Given the description of an element on the screen output the (x, y) to click on. 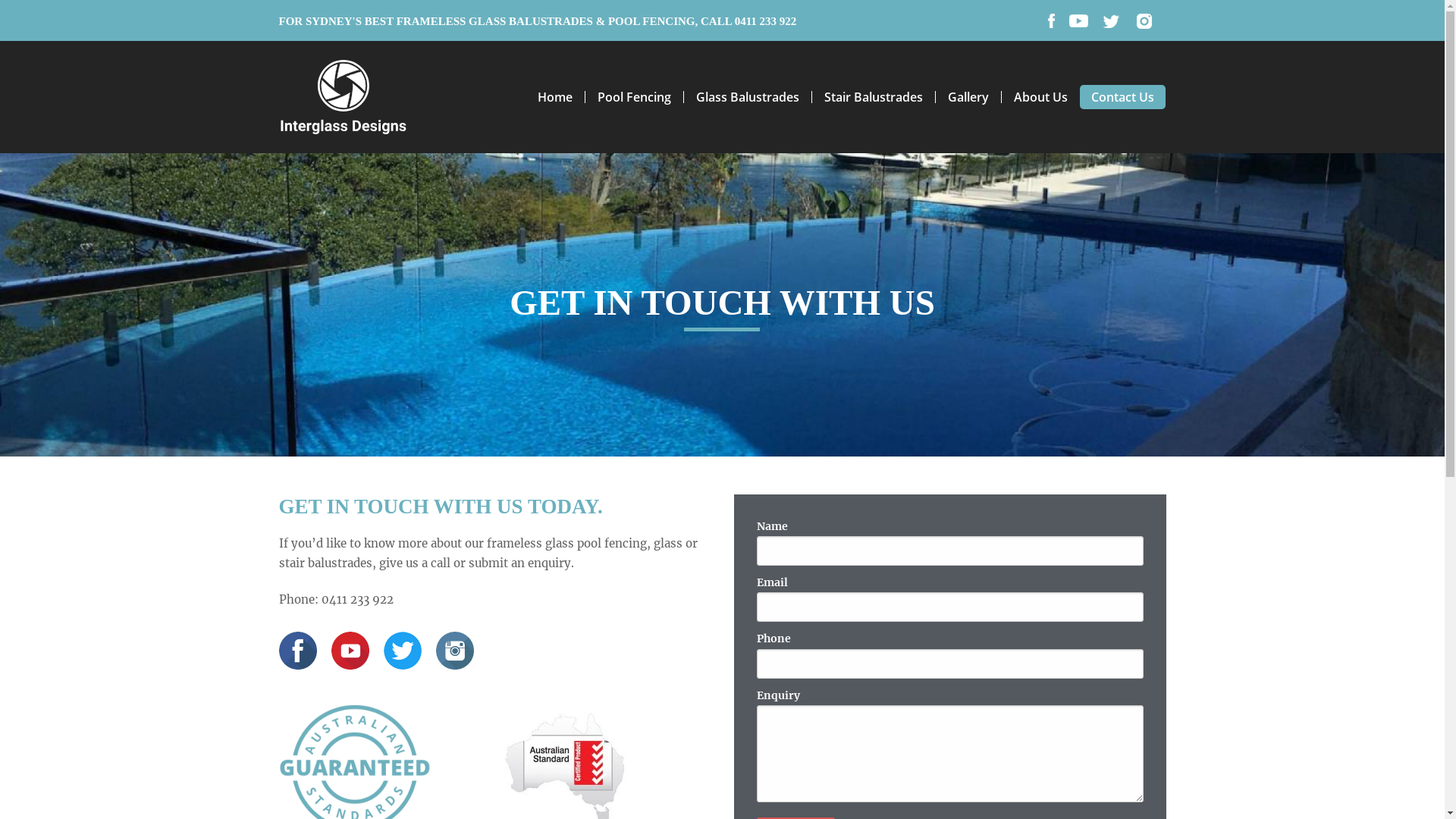
Pool Fencing Element type: text (634, 97)
Home Element type: text (561, 97)
Gallery Element type: text (968, 97)
facebook Element type: hover (297, 650)
Instagram Element type: hover (1143, 20)
twitter Element type: hover (1110, 19)
youtube Element type: hover (1078, 20)
About Us Element type: text (1040, 97)
Contact Us Element type: text (1122, 96)
Stair Balustrades Element type: text (873, 97)
youtube Element type: hover (349, 650)
logo Element type: hover (343, 96)
0411 233 922 Element type: text (357, 599)
instagram Element type: hover (454, 650)
Glass Balustrades Element type: text (748, 97)
twitter Element type: hover (402, 650)
0411 233 922 Element type: text (765, 21)
facebook Element type: hover (1051, 20)
